Given the description of an element on the screen output the (x, y) to click on. 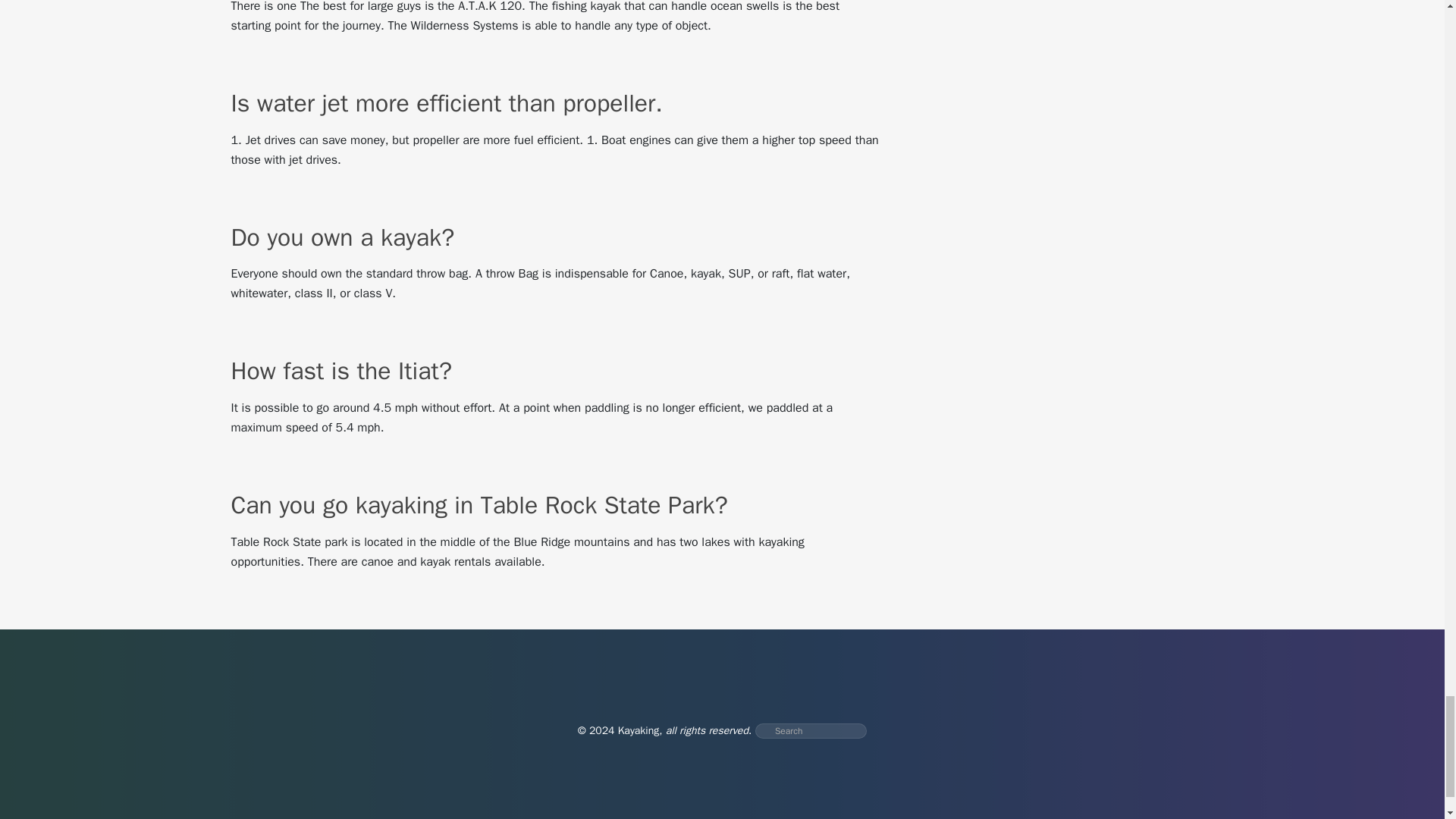
Kayaking (638, 730)
